Given the description of an element on the screen output the (x, y) to click on. 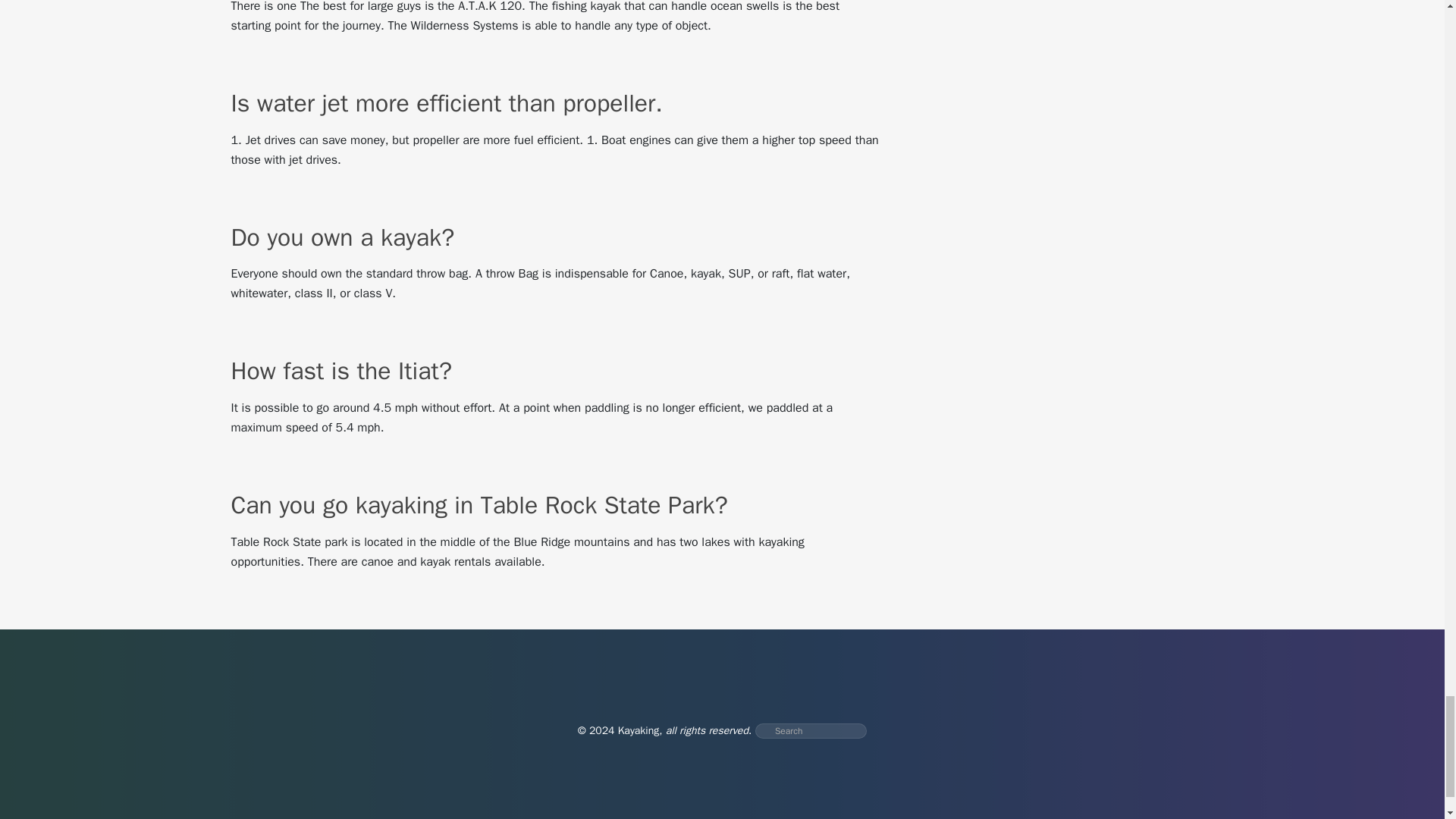
Kayaking (638, 730)
